Given the description of an element on the screen output the (x, y) to click on. 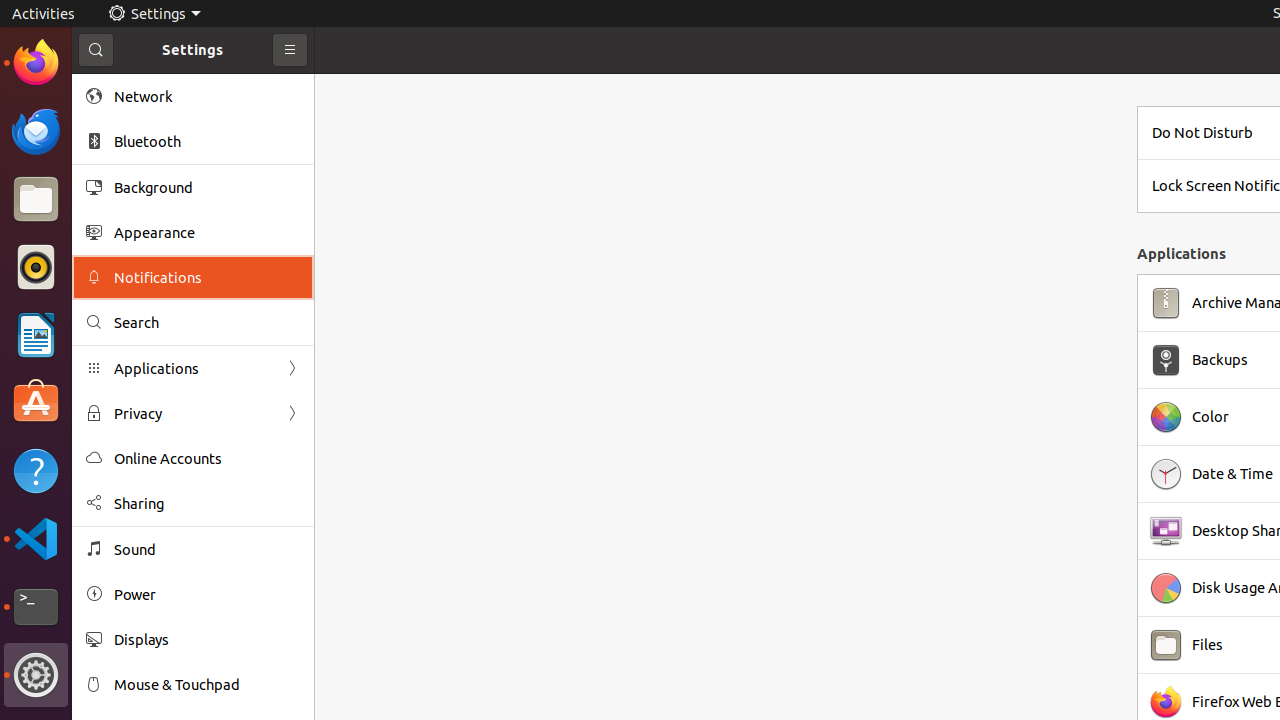
Activities Element type: label (43, 13)
Settings Element type: menu (154, 13)
Search Element type: label (207, 322)
Online Accounts Element type: label (207, 458)
Trash Element type: label (133, 191)
